Given the description of an element on the screen output the (x, y) to click on. 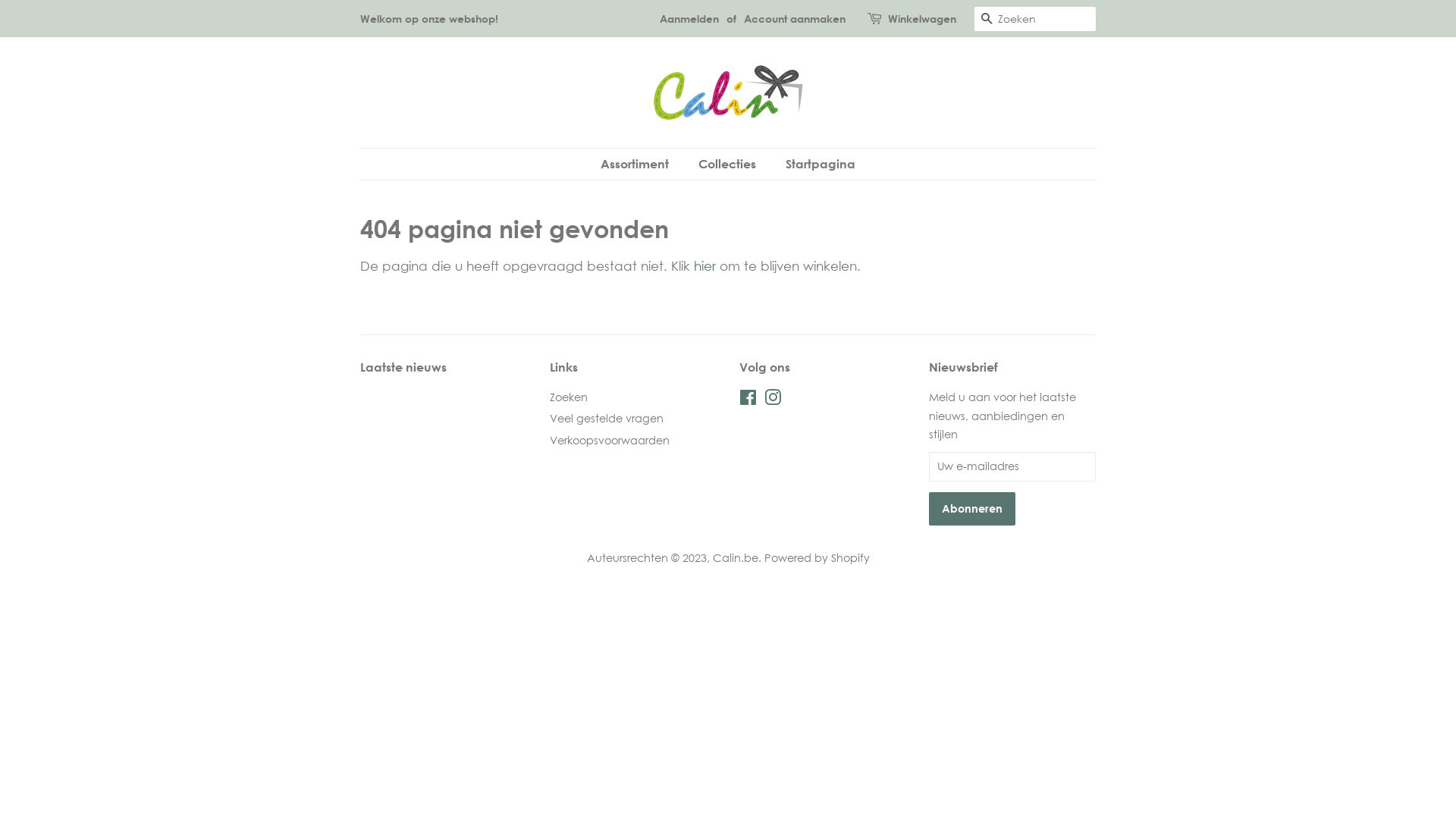
Abonneren Element type: text (971, 508)
Startpagina Element type: text (814, 163)
Collecties Element type: text (729, 163)
Calin.be Element type: text (735, 557)
Veel gestelde vragen Element type: text (606, 417)
Facebook Element type: text (747, 399)
Winkelwagen Element type: text (922, 18)
Aanmelden Element type: text (688, 18)
Laatste nieuws Element type: text (403, 366)
Verkoopsvoorwaarden Element type: text (609, 439)
Zoeken Element type: text (986, 18)
Welkom op onze webshop! Element type: text (429, 18)
Account aanmaken Element type: text (794, 18)
Assortiment Element type: text (642, 163)
Zoeken Element type: text (568, 396)
hier Element type: text (704, 265)
Instagram Element type: text (772, 399)
